Given the description of an element on the screen output the (x, y) to click on. 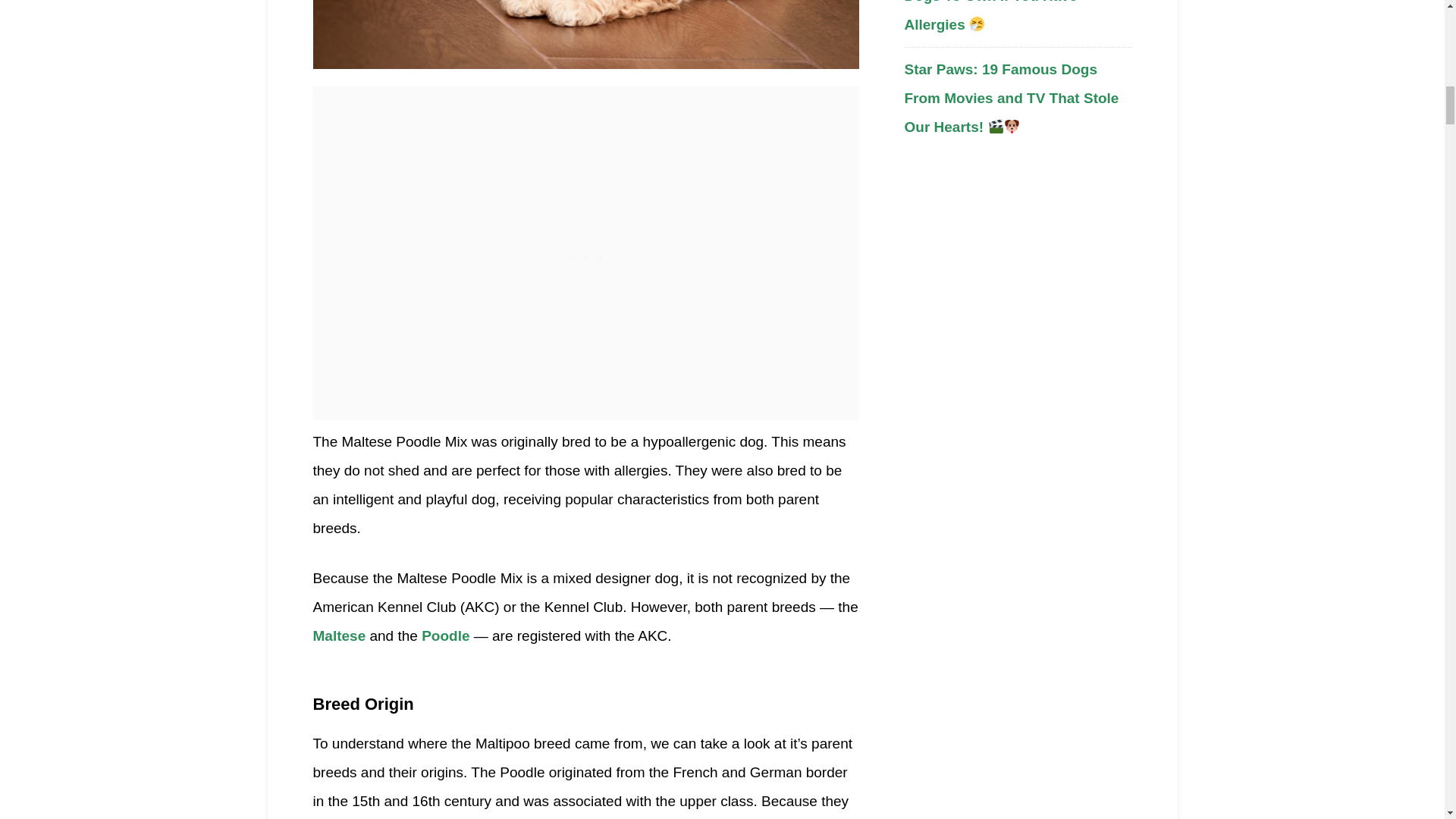
Maltese (339, 635)
Poodle (445, 635)
